Given the description of an element on the screen output the (x, y) to click on. 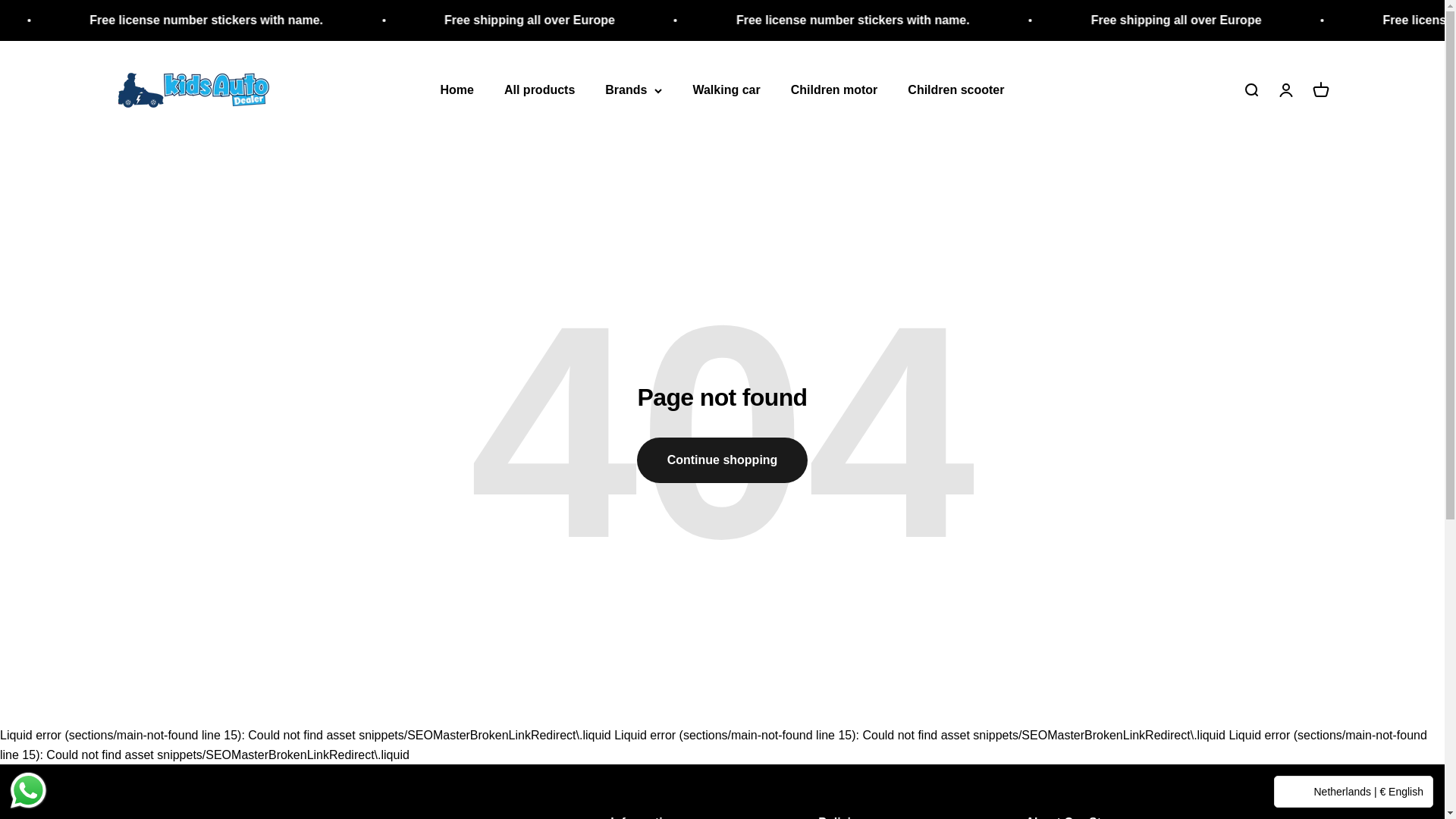
Home (1319, 89)
Open account page (457, 89)
Continue shopping (1285, 89)
Children scooter (722, 460)
Children motor (955, 89)
Kidsautodealer (833, 89)
Walking car (192, 89)
Open search (726, 89)
All products (1250, 89)
